Given the description of an element on the screen output the (x, y) to click on. 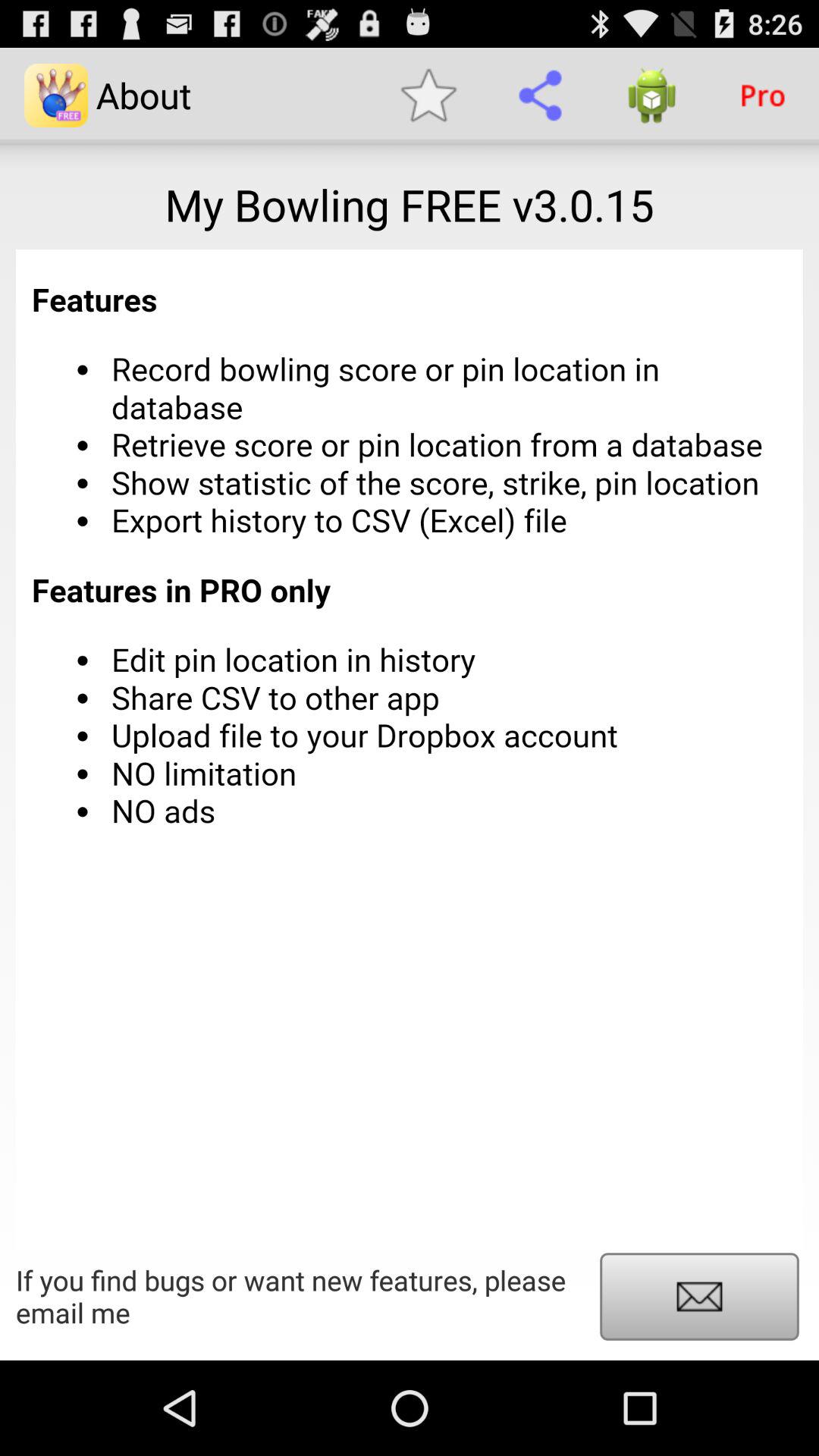
email the app developer (699, 1296)
